Given the description of an element on the screen output the (x, y) to click on. 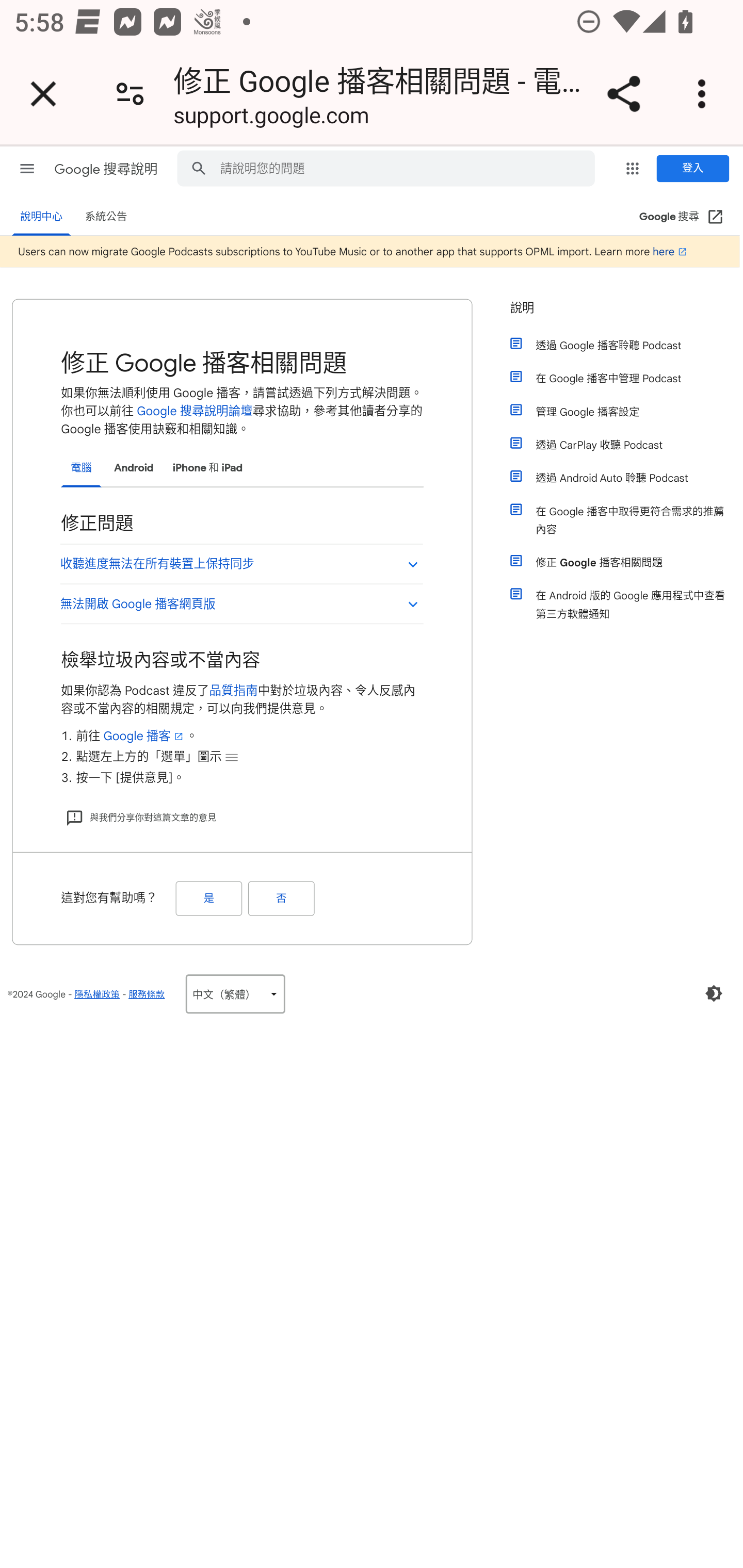
Close tab (43, 93)
Share (623, 93)
Customize and control Google Chrome (705, 93)
Connection is secure (129, 93)
support.google.com (271, 117)
主選單 (27, 168)
Google 搜尋說明 (107, 169)
搜尋說明中心 (198, 167)
Google 應用程式 (632, 168)
登入 (692, 168)
說明中心 (40, 217)
系統公告 (105, 217)
Google 搜尋 (在新視窗中開啟) Google 搜尋 (681, 217)
here (670, 250)
說明 說明 說明 (618, 313)
透過 Google 播客聆聽 Podcast (626, 344)
在 Google 播客中管理 Podcast (626, 378)
管理 Google 播客設定 (626, 411)
Google 搜尋說明論壇 (194, 410)
透過 CarPlay 收聽 Podcast (626, 444)
電腦 (80, 468)
Android (133, 468)
iPhone 和 iPad (206, 468)
透過 Android Auto 聆聽 Podcast (626, 477)
在 Google 播客中取得更符合需求的推薦內容 (626, 519)
收聽進度無法在所有裝置上保持同步 (240, 562)
修正 Google 播客相關問題 (626, 561)
在 Android 版的 Google 應用程式中查看第三方軟體通知 (626, 604)
無法開啟 Google 播客網頁版 (240, 603)
品質指南 (232, 690)
Google 播客 (144, 735)
與我們分享你對這篇文章的意見 (140, 815)
是 (這對您有幫助嗎？) (208, 898)
否 (這對您有幫助嗎？) (280, 898)
選取語言 (中文（繁體）‎) (235, 993)
啟用深色模式 (713, 993)
隱私權政策 (96, 993)
服務條款 (145, 993)
